Given the description of an element on the screen output the (x, y) to click on. 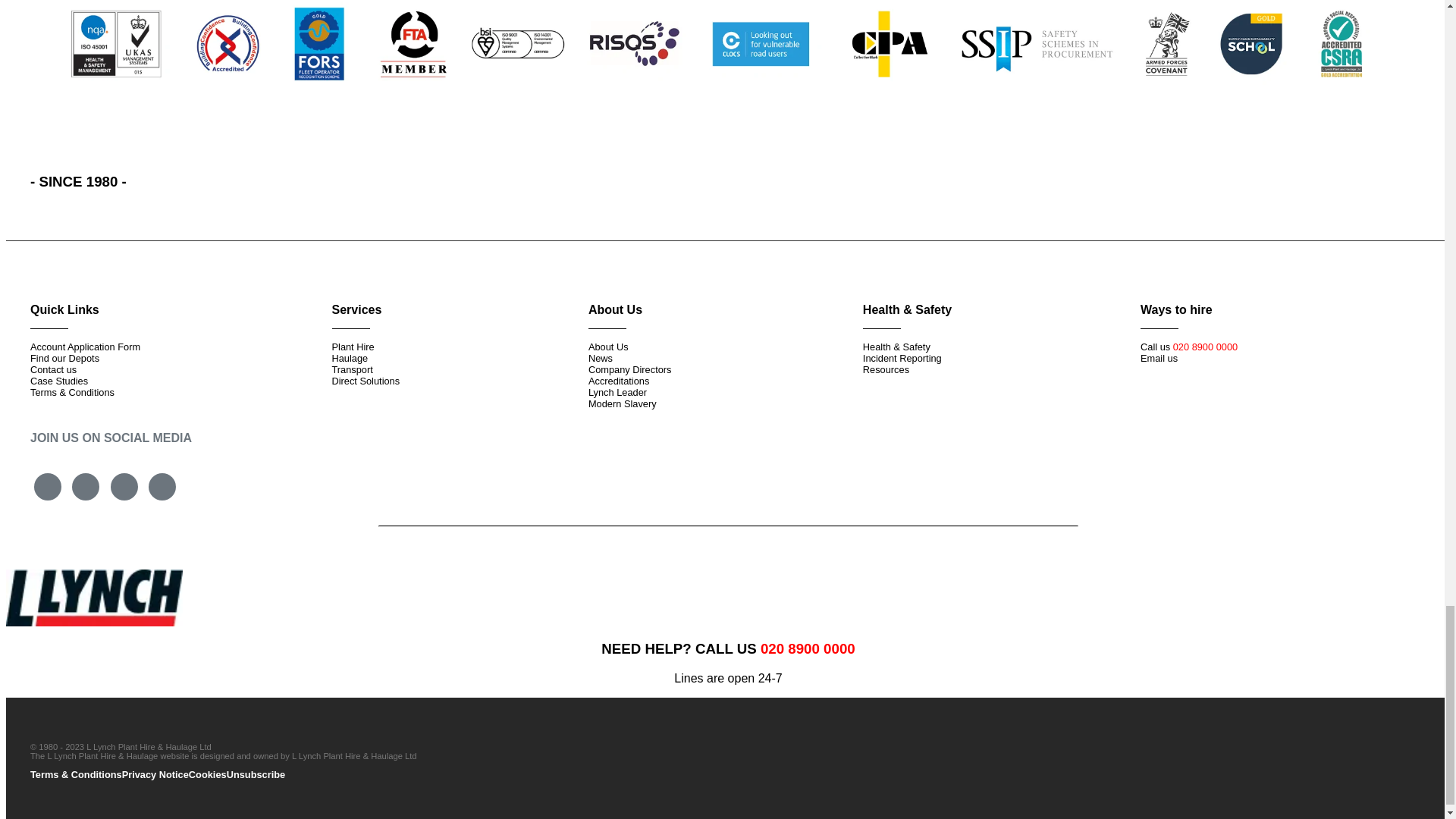
Lynch - contact us  (53, 369)
Find a Lynch Depot (64, 357)
